Given the description of an element on the screen output the (x, y) to click on. 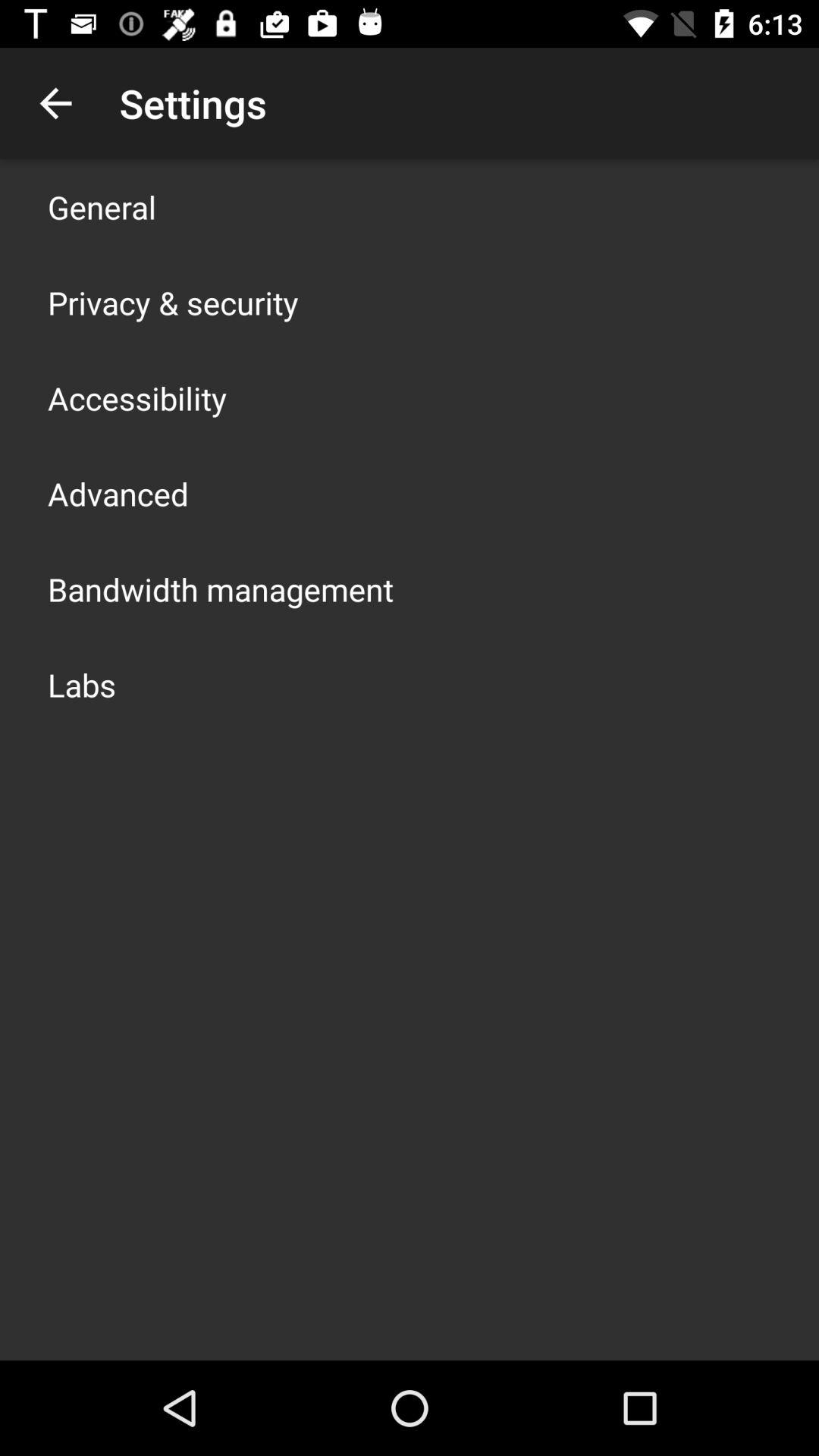
choose the item below advanced item (220, 588)
